Given the description of an element on the screen output the (x, y) to click on. 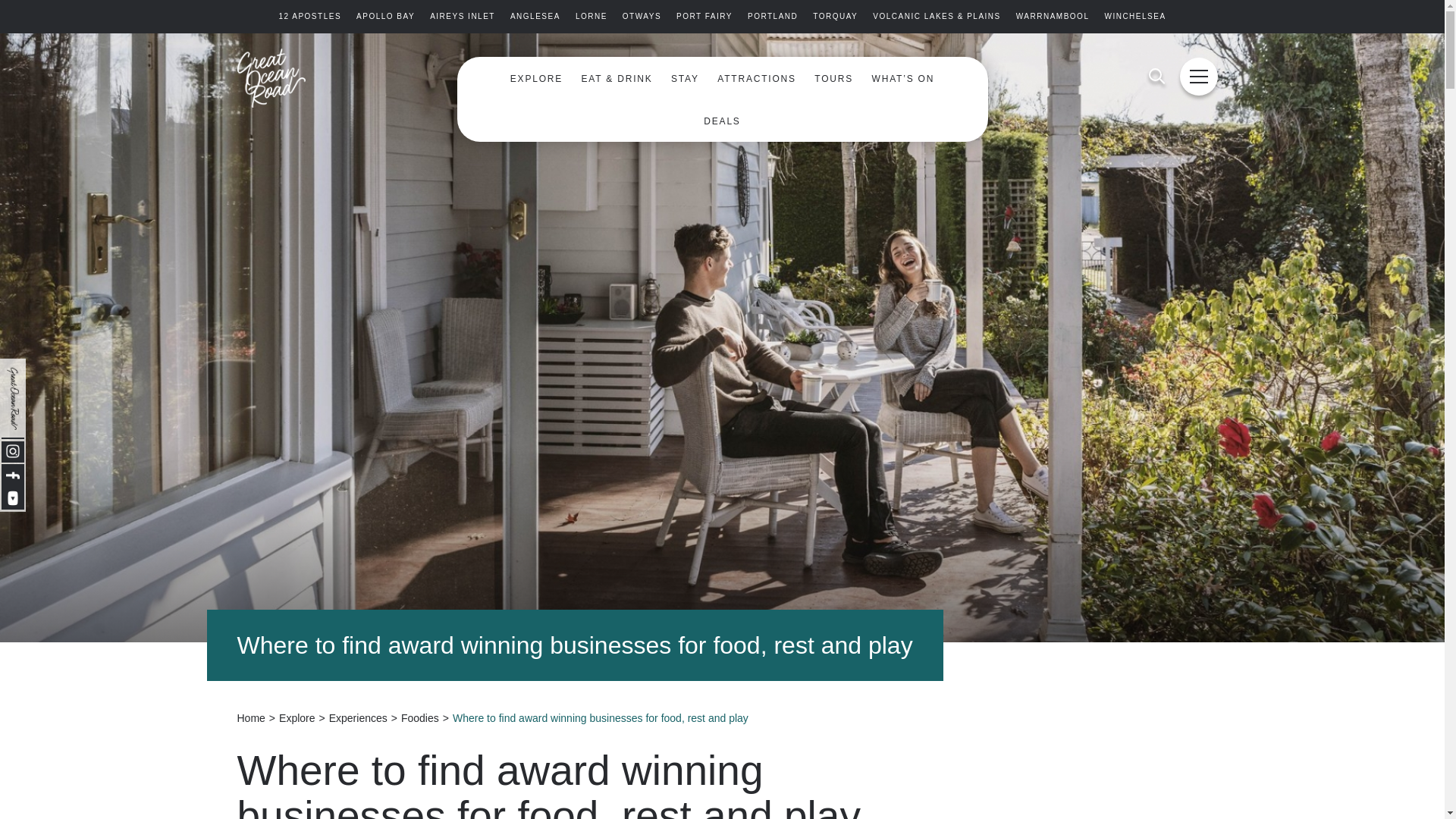
OTWAYS (642, 16)
AIREYS INLET (462, 16)
Home (249, 717)
EXPLORE (536, 78)
PORTLAND (772, 16)
WARRNAMBOOL (1052, 16)
APOLLO BAY (385, 16)
PORT FAIRY (704, 16)
ANGLESEA (535, 16)
LORNE (591, 16)
WINCHELSEA (1134, 16)
TORQUAY (834, 16)
12 APOSTLES (309, 16)
